Given the description of an element on the screen output the (x, y) to click on. 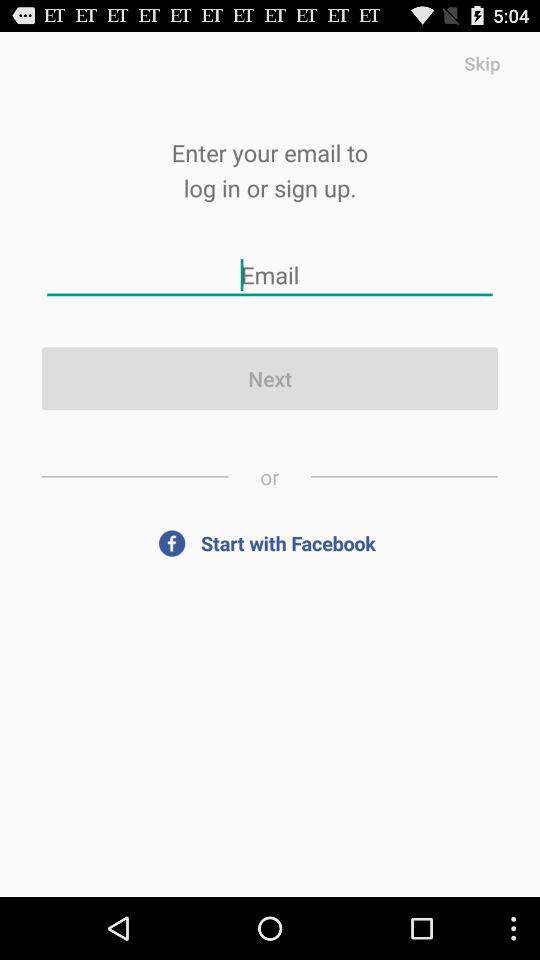
turn off icon above or app (269, 377)
